Given the description of an element on the screen output the (x, y) to click on. 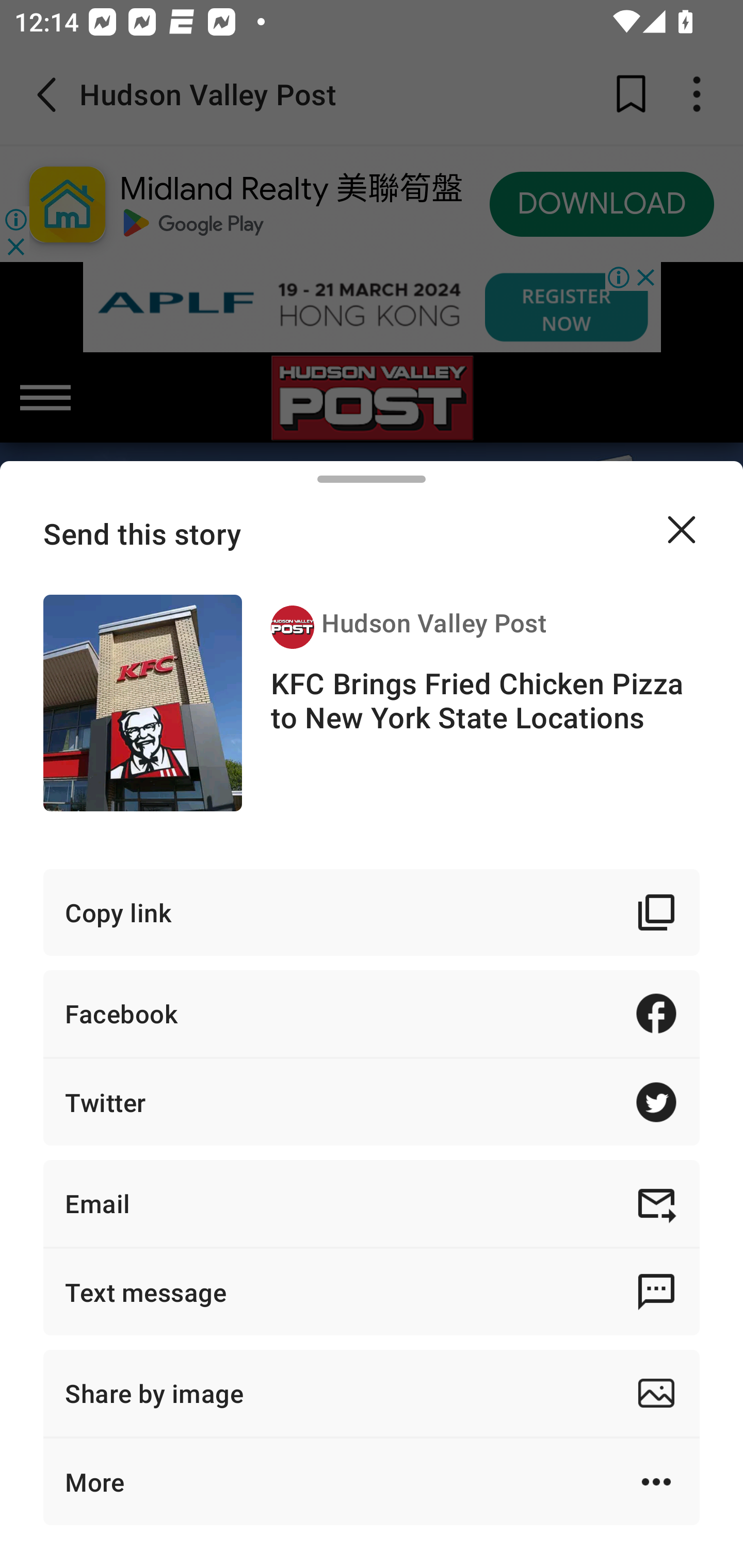
Copy link (371, 912)
Facebook (371, 1013)
Twitter (371, 1102)
Email (371, 1203)
Text message (371, 1291)
Share by image (371, 1393)
More (371, 1481)
